Given the description of an element on the screen output the (x, y) to click on. 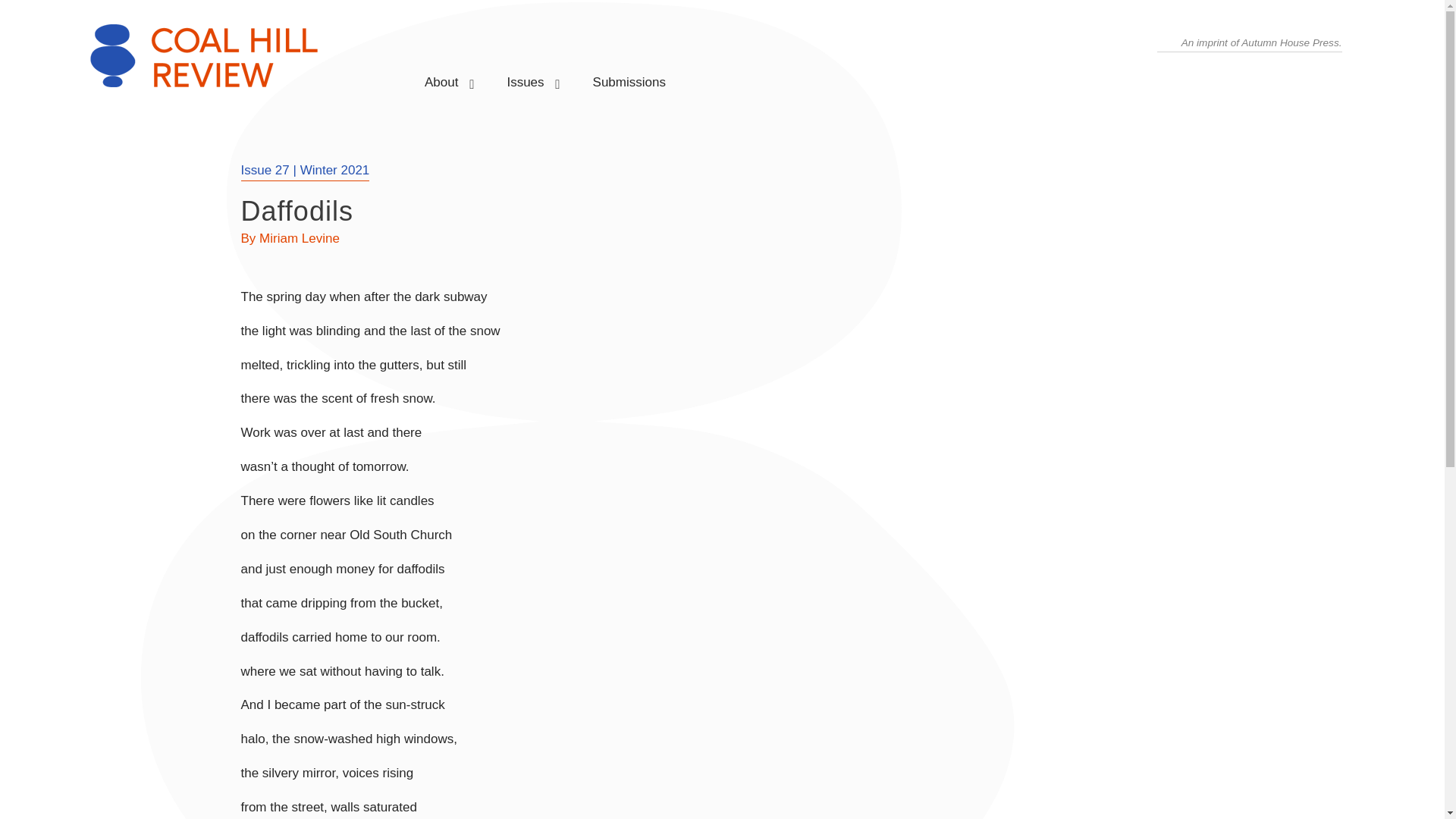
Issues (524, 76)
Search (26, 12)
Miriam Levine (299, 237)
An imprint of Autumn House Press. (1261, 42)
About (440, 76)
Submissions (629, 76)
